Given the description of an element on the screen output the (x, y) to click on. 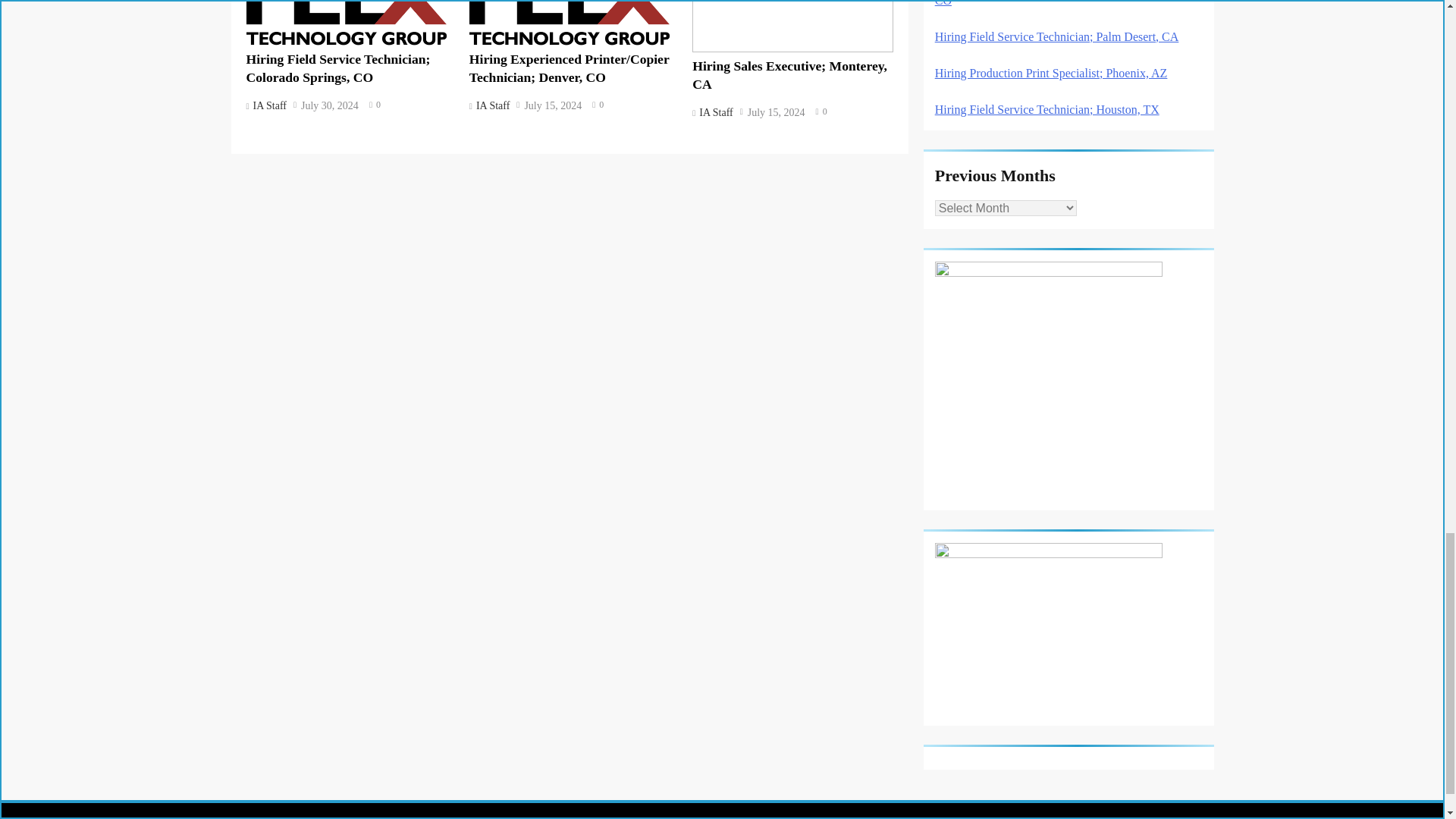
Hiring Field Service Technician; Colorado Springs, CO (1059, 3)
Hiring Field Service Technician; Palm Desert, CA (1056, 36)
Hiring Production Print Specialist; Phoenix, AZ (1050, 72)
Hiring Field Service Technician; Houston, TX (1046, 109)
